Given the description of an element on the screen output the (x, y) to click on. 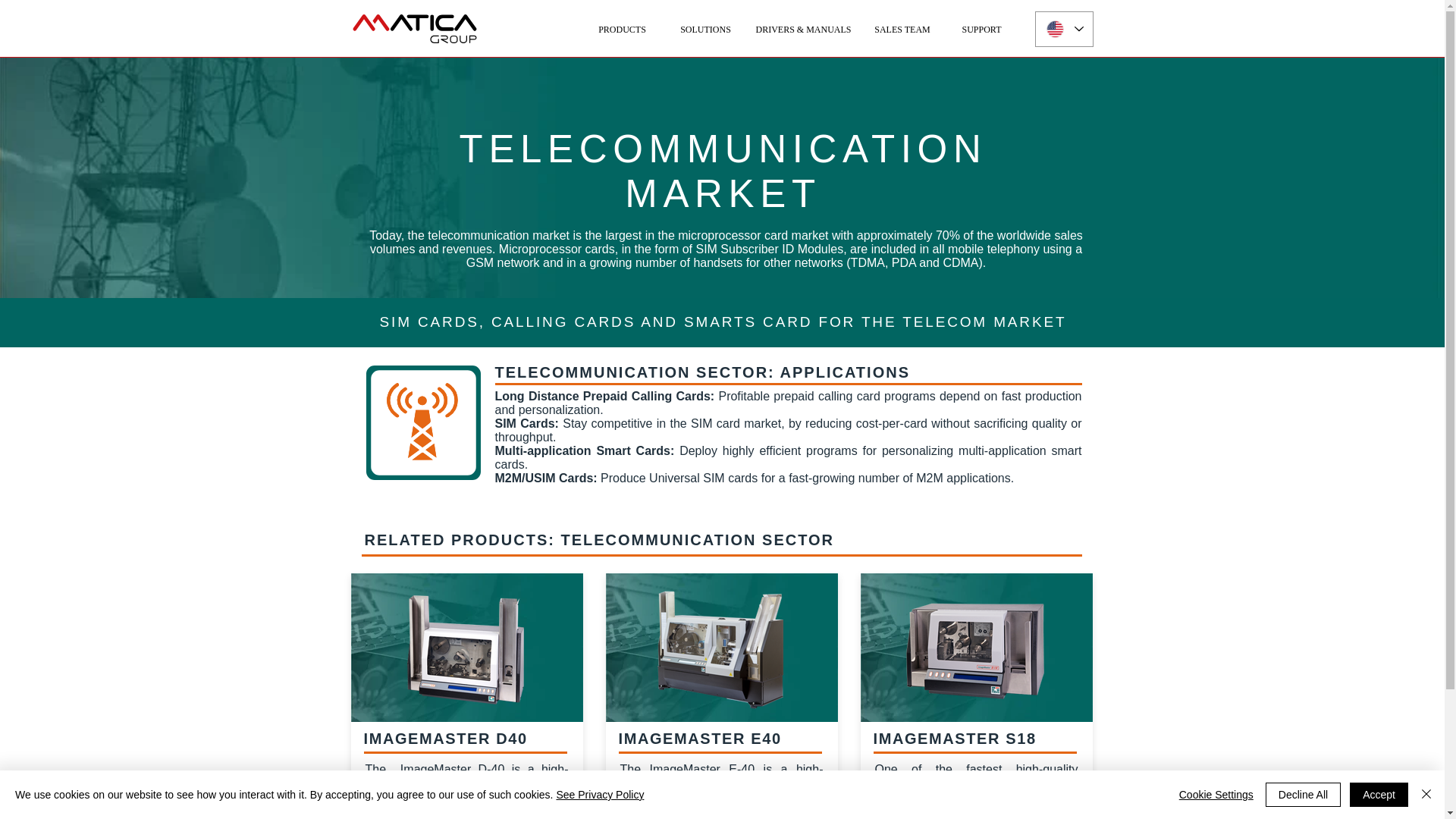
SOLUTIONS (704, 29)
PRODUCTS (621, 29)
See Privacy Policy (599, 794)
Accept (1378, 794)
SUPPORT (981, 29)
Decline All (1302, 794)
SALES TEAM (902, 29)
